Given the description of an element on the screen output the (x, y) to click on. 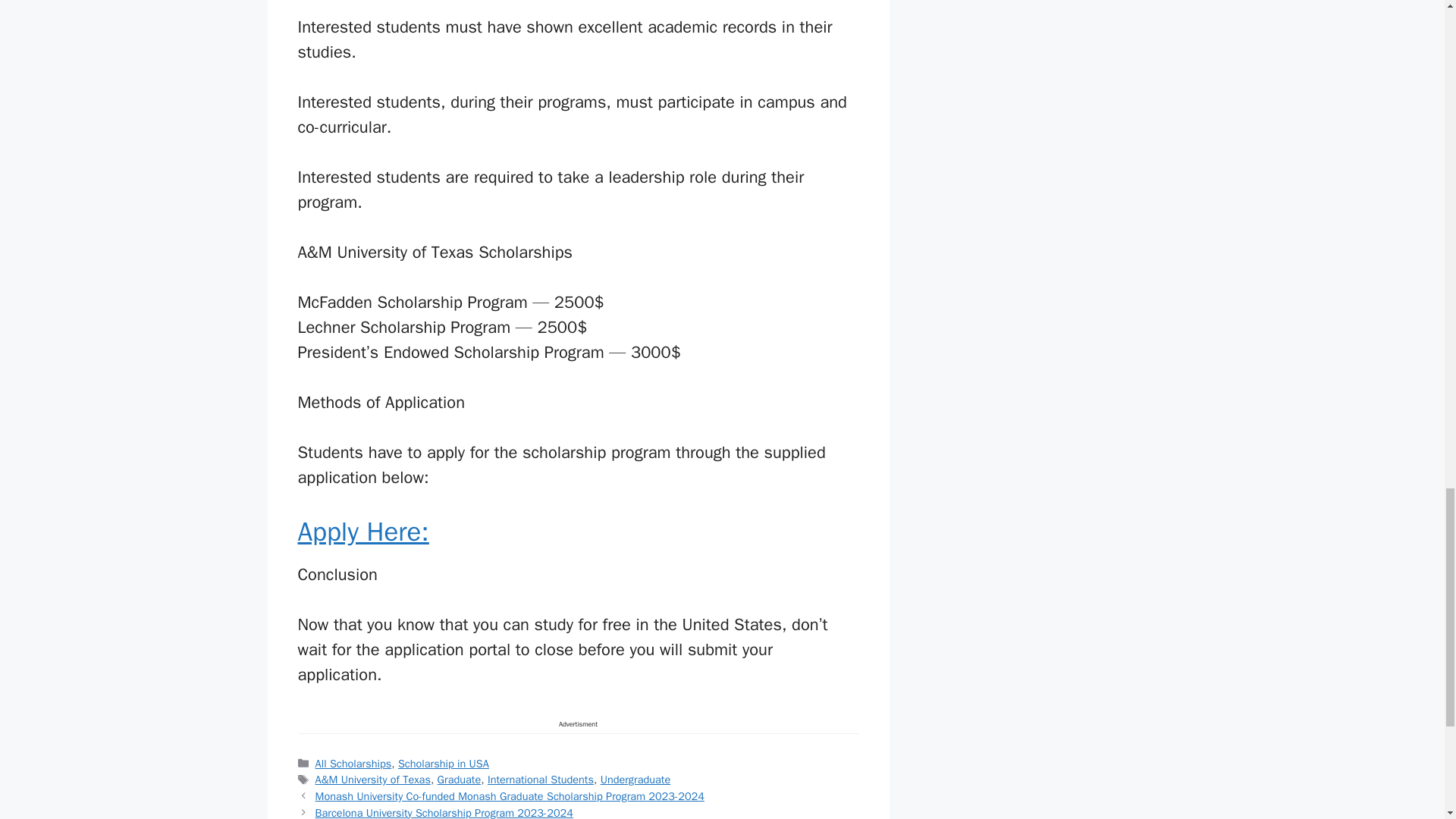
Scholarship in USA (443, 763)
International Students (540, 779)
Apply Here: (362, 531)
Barcelona University Scholarship Program 2023-2024 (444, 812)
All Scholarships (353, 763)
Undergraduate (635, 779)
Graduate (459, 779)
